Given the description of an element on the screen output the (x, y) to click on. 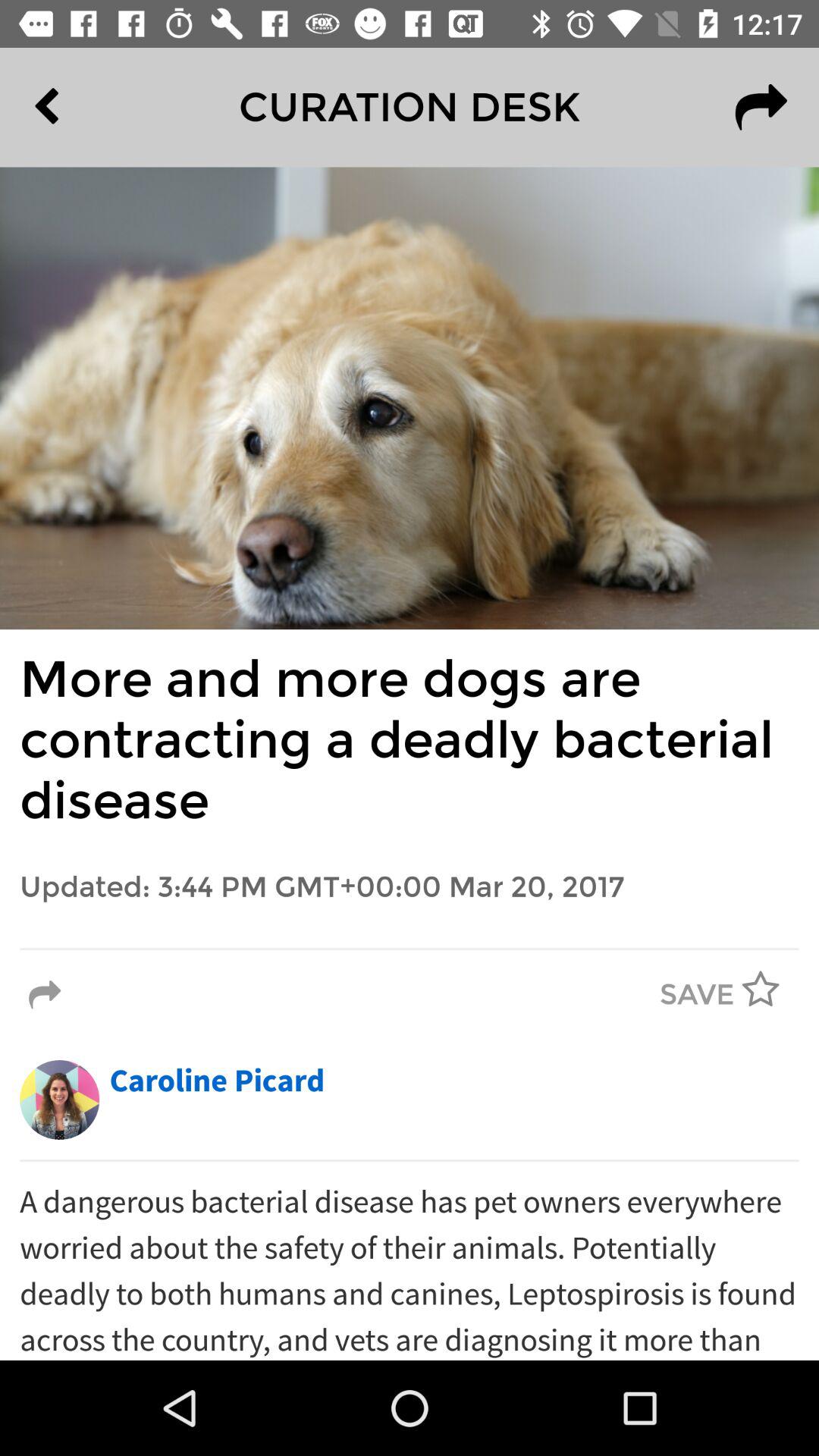
turn on the item next to the caroline picard (59, 1099)
